Given the description of an element on the screen output the (x, y) to click on. 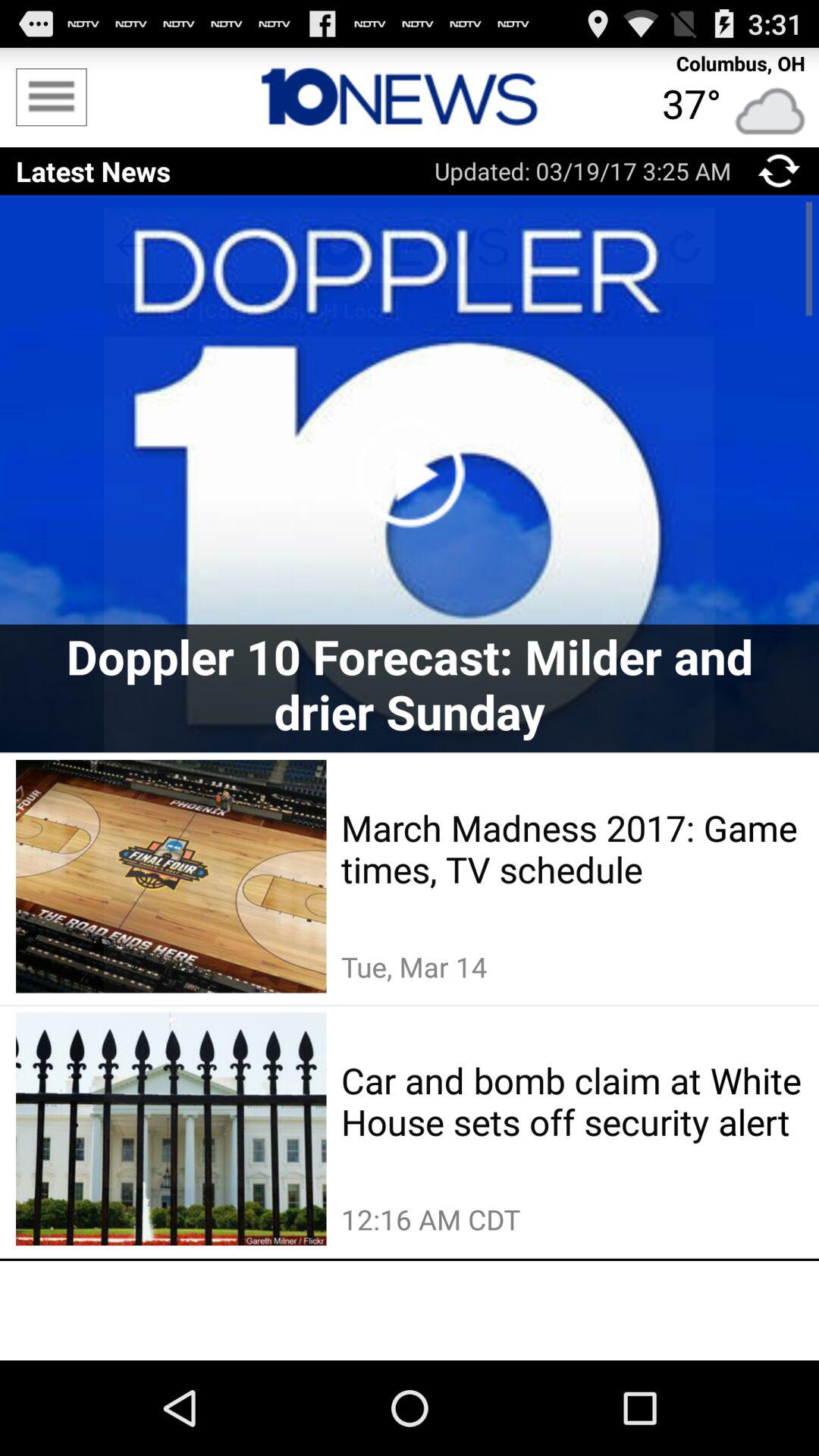
tap app below tue, mar 14 item (572, 1100)
